Given the description of an element on the screen output the (x, y) to click on. 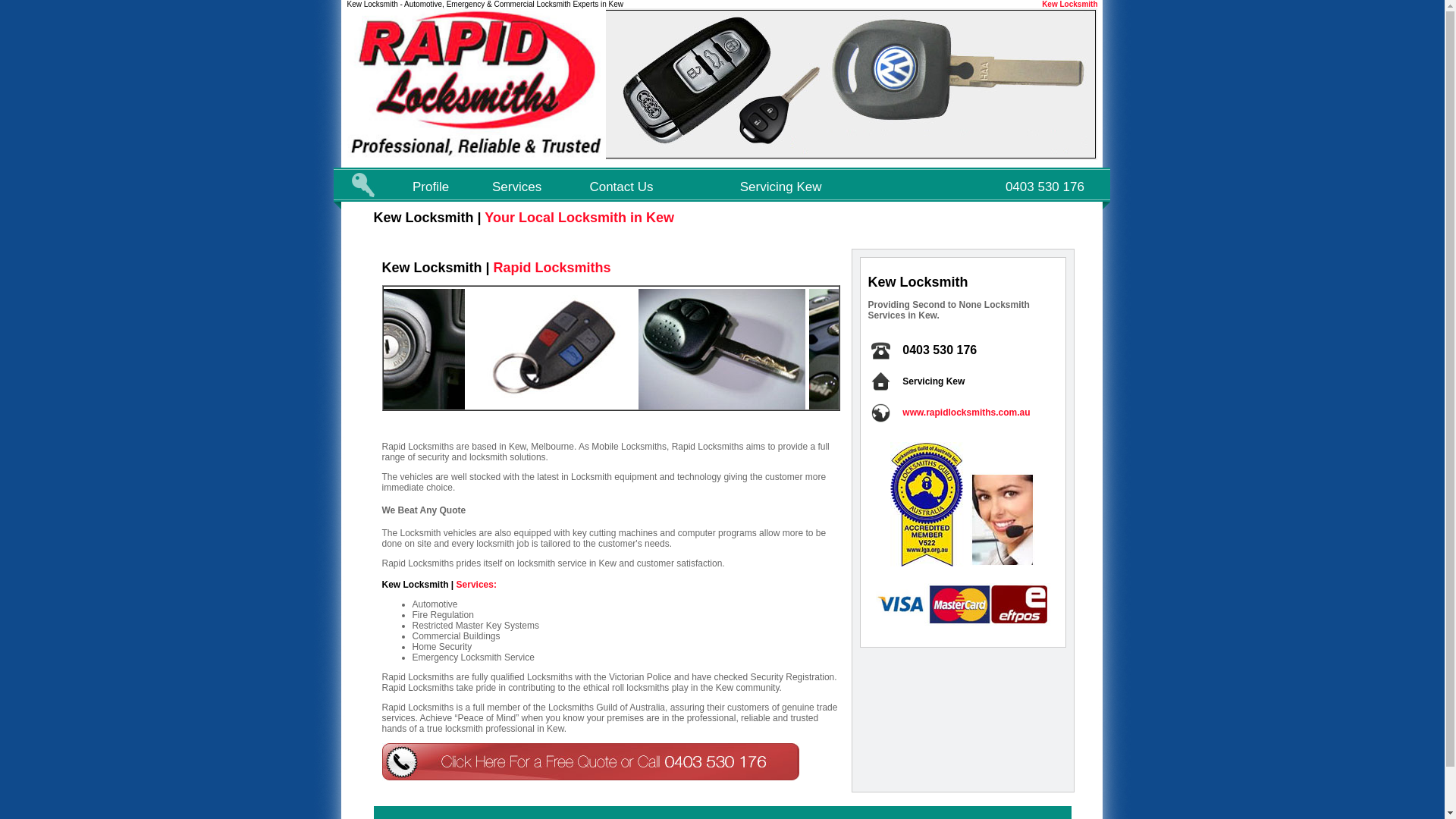
Profile Element type: text (430, 185)
Kew Locksmith Element type: text (1069, 4)
Contact Us Element type: text (620, 185)
www.rapidlocksmiths.com.au Element type: text (965, 412)
Services Element type: text (516, 185)
